Given the description of an element on the screen output the (x, y) to click on. 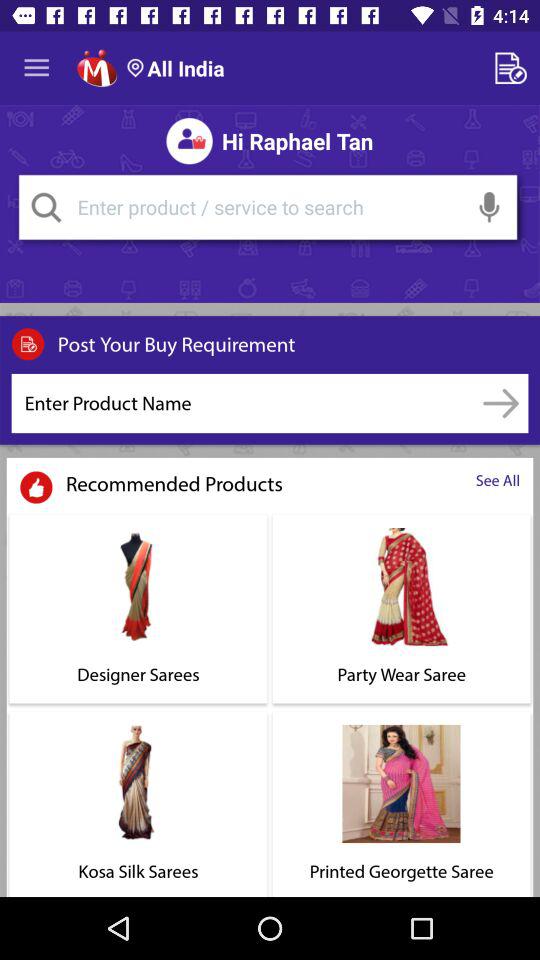
search product name (500, 403)
